Given the description of an element on the screen output the (x, y) to click on. 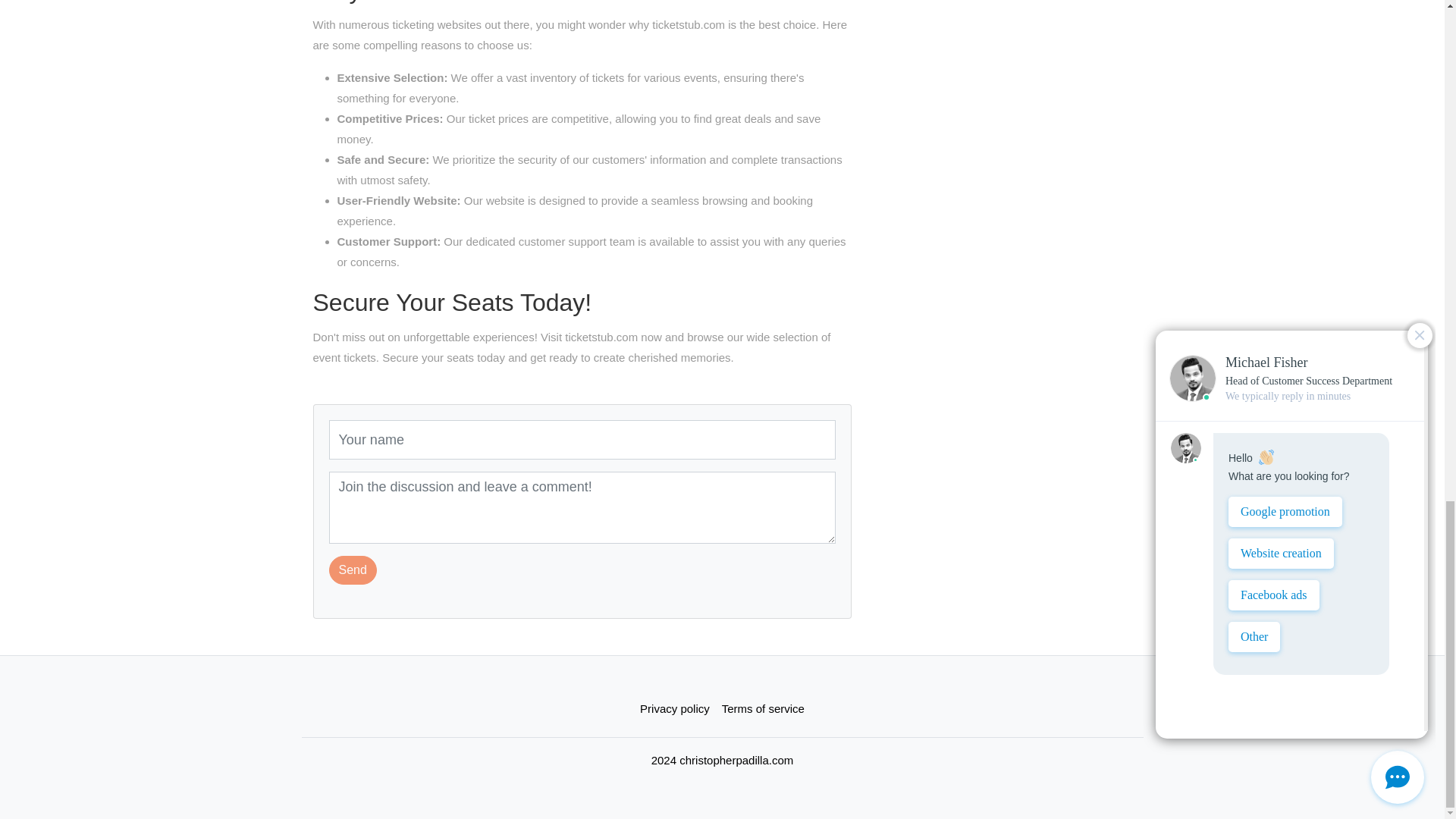
Terms of service (763, 708)
Send (353, 570)
Send (353, 570)
Privacy policy (674, 708)
